Given the description of an element on the screen output the (x, y) to click on. 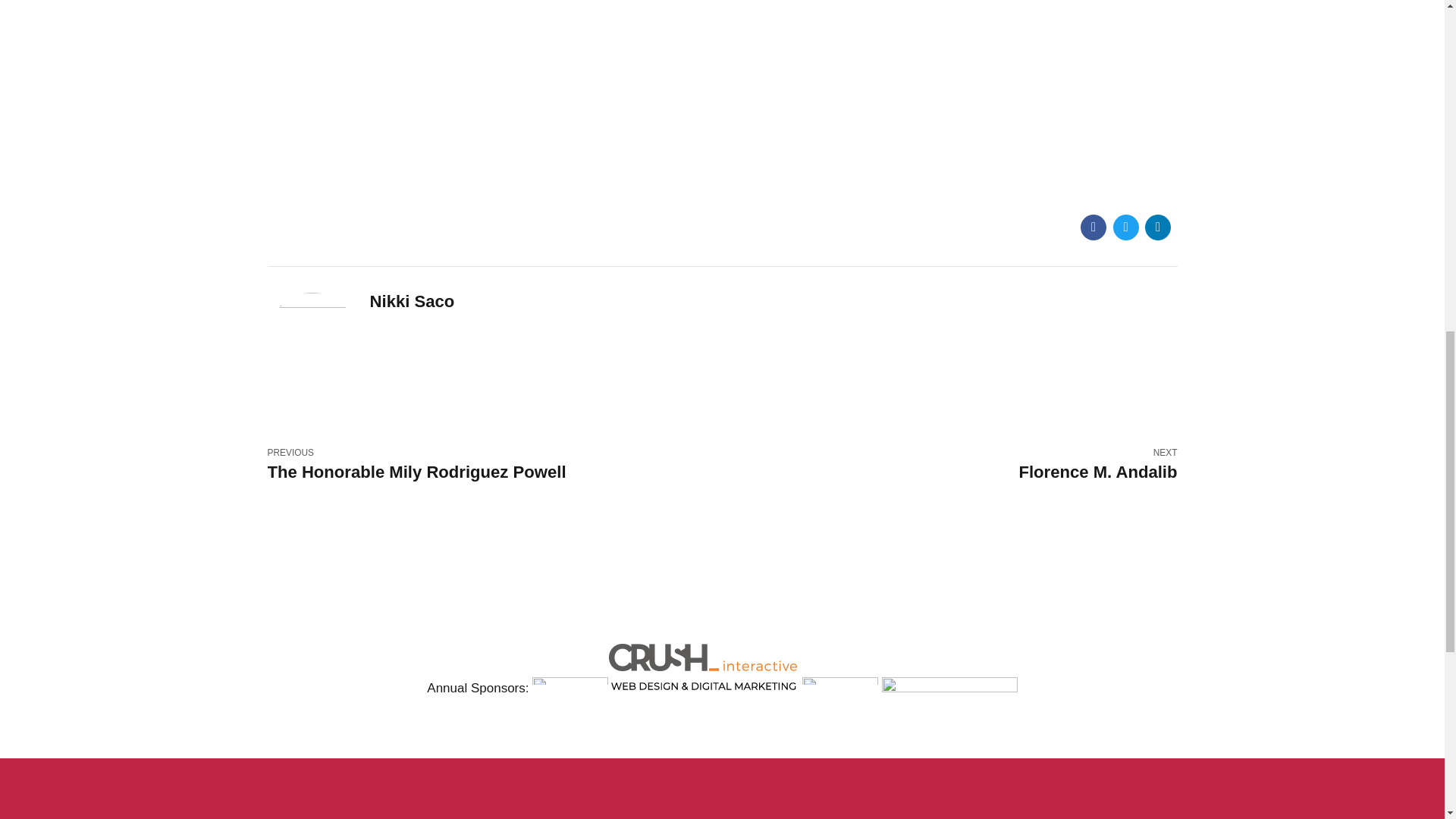
Share on Twitter (949, 473)
Share on Linkedin (1125, 227)
YouTube video player (1157, 227)
Share on Facebook (721, 94)
